Given the description of an element on the screen output the (x, y) to click on. 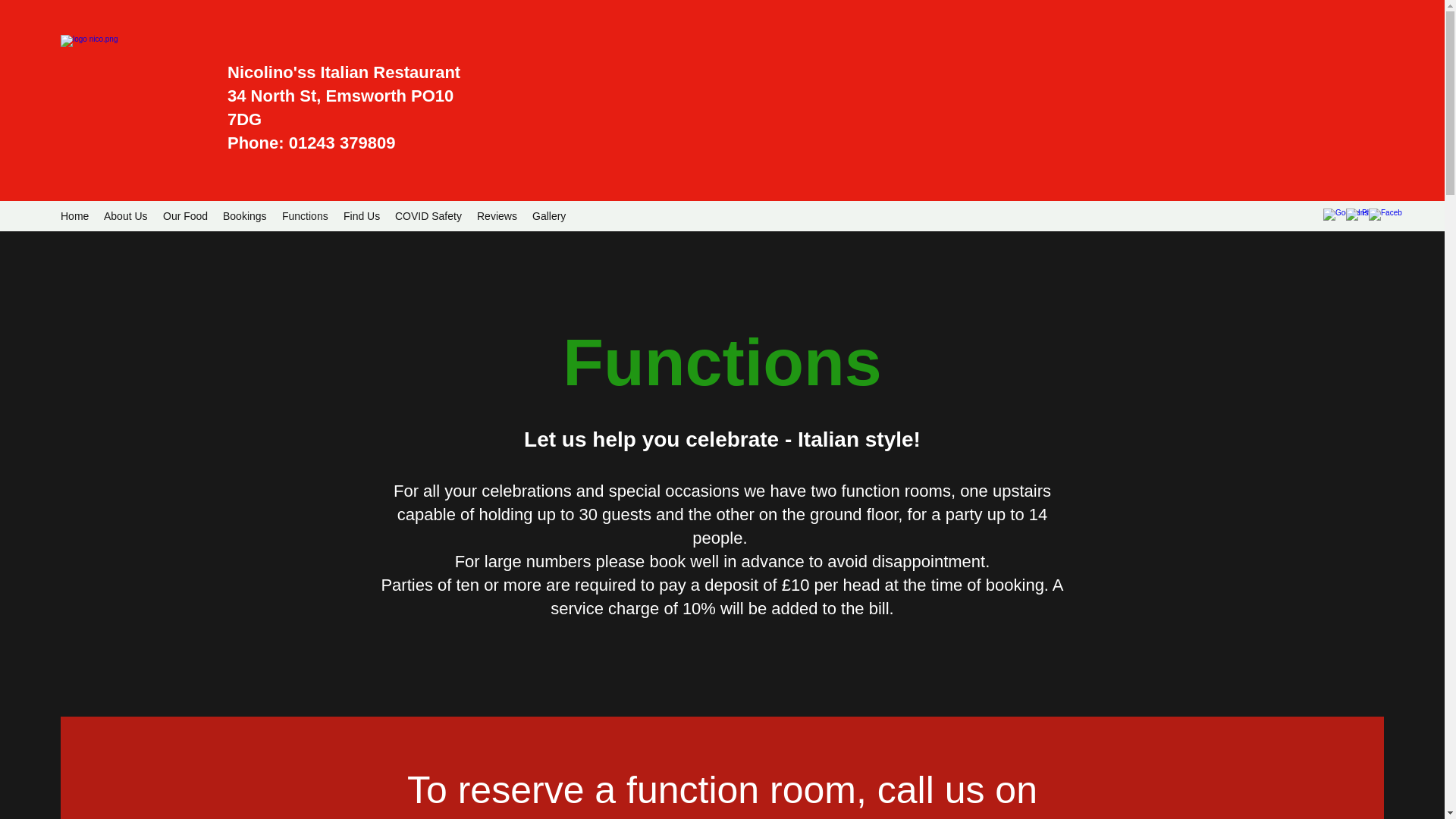
Home (74, 215)
Reviews (496, 215)
Find Us (361, 215)
Bookings (245, 215)
About Us (125, 215)
Functions (305, 215)
Our Food (185, 215)
COVID Safety (427, 215)
Gallery (548, 215)
